Given the description of an element on the screen output the (x, y) to click on. 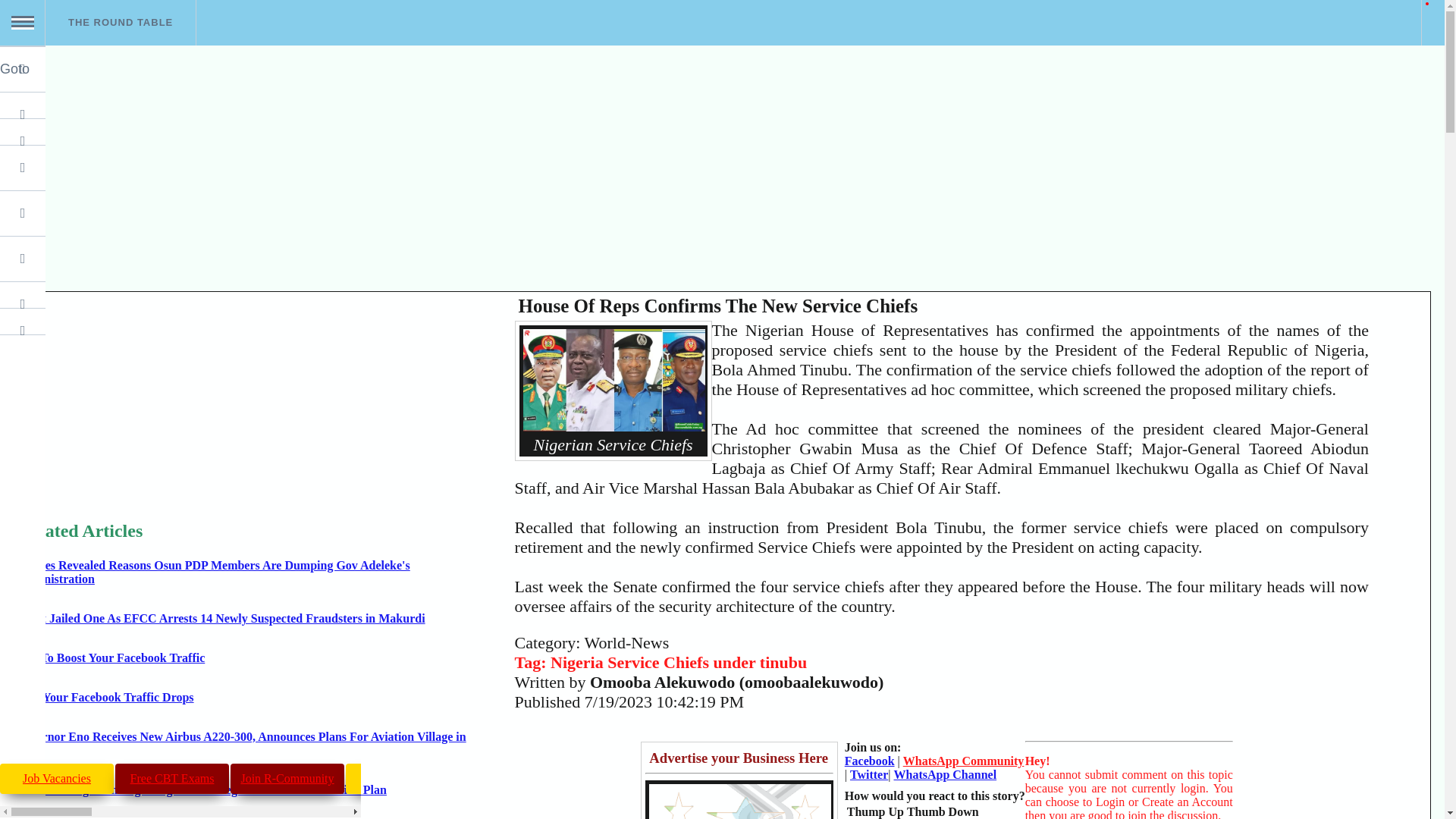
News Headlines (518, 778)
Community (978, 778)
Tips To Boost Your Facebook Traffic (109, 657)
Free CBT Exams (171, 778)
RoundHub (134, 130)
The Round Table WhatsApp Community (978, 778)
Channel (1209, 778)
THE ROUND TABLE (120, 22)
R-Community (286, 778)
